Given the description of an element on the screen output the (x, y) to click on. 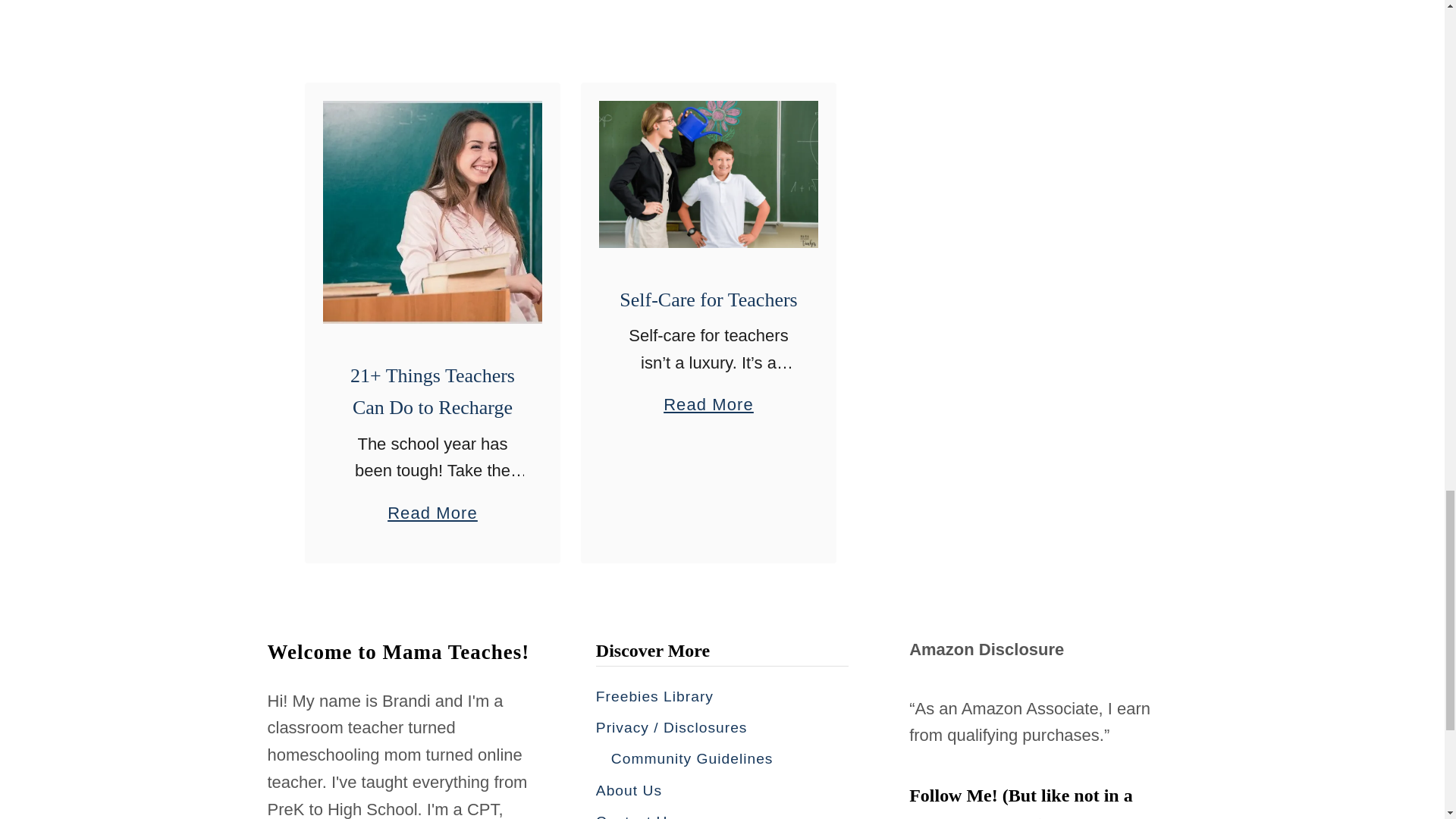
Self-Care for Teachers (708, 300)
Self-Care for Teachers (708, 396)
